Given the description of an element on the screen output the (x, y) to click on. 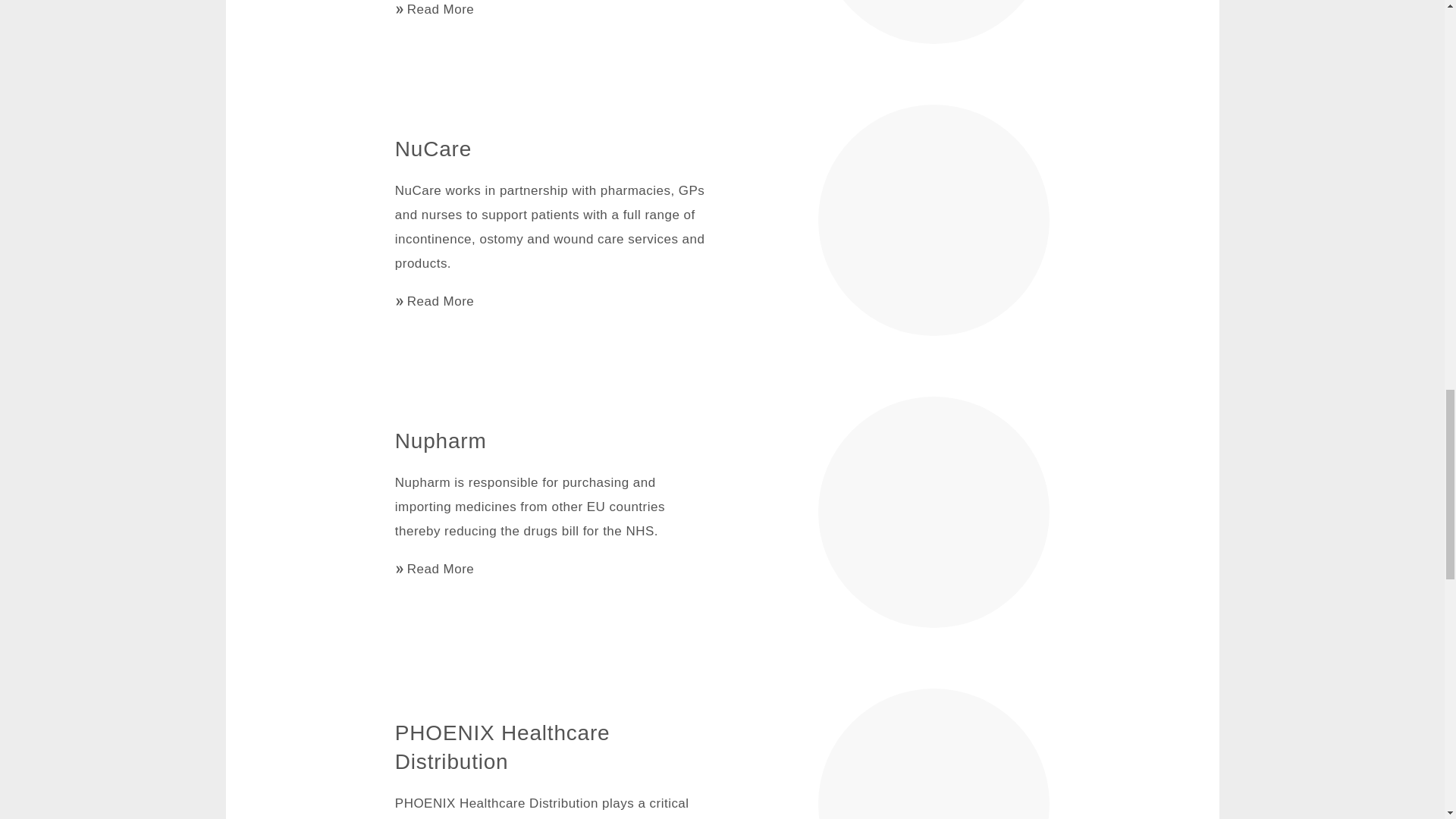
Read More (434, 301)
Read More (434, 568)
Read More (434, 9)
